Given the description of an element on the screen output the (x, y) to click on. 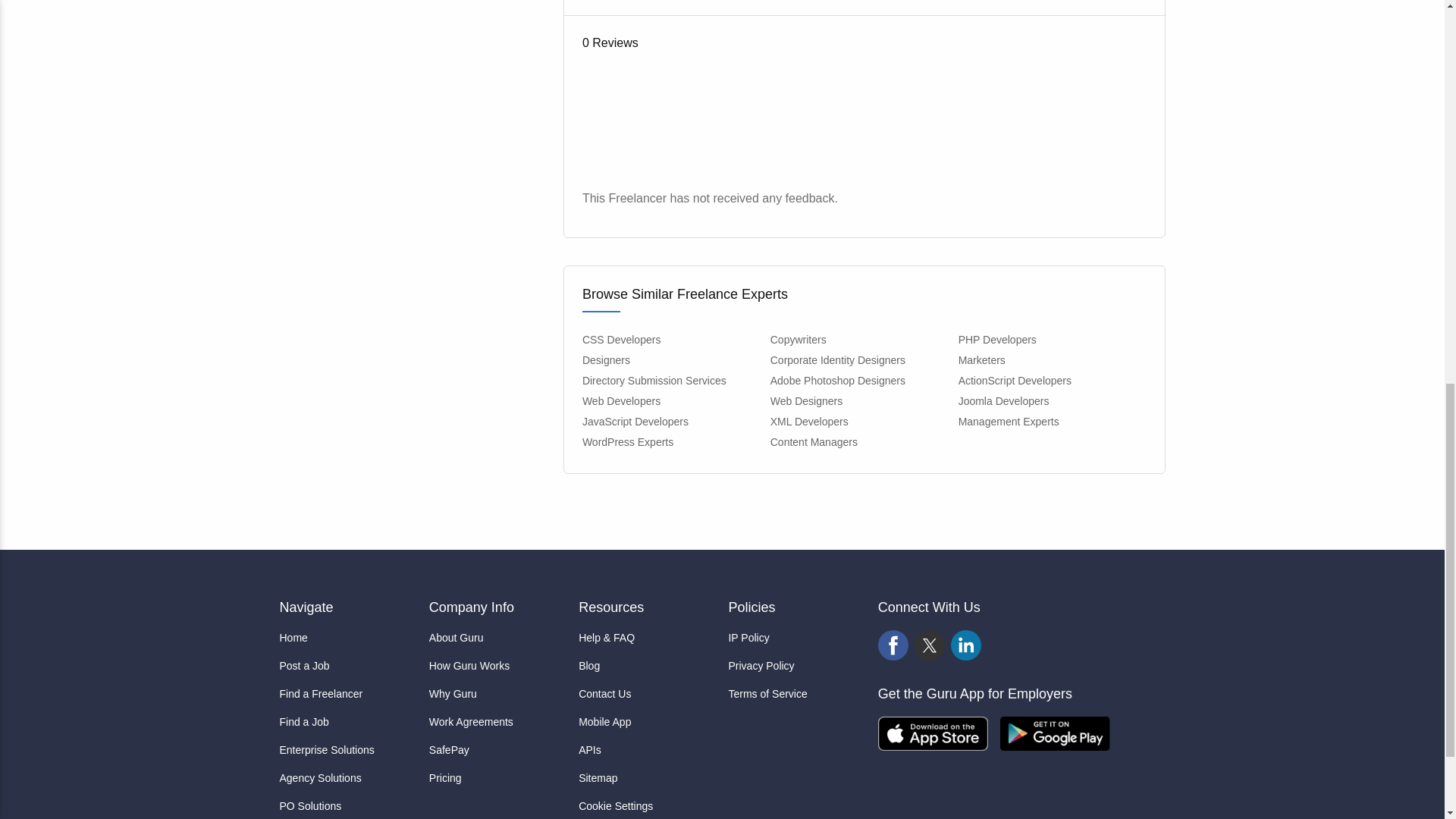
Find a Freelancer (347, 693)
Connect with Guru on LinkedIn (965, 645)
Home (347, 637)
Connect with Guru on Facebook (893, 645)
Post a Job (347, 666)
Connect with Guru on X (929, 645)
